Given the description of an element on the screen output the (x, y) to click on. 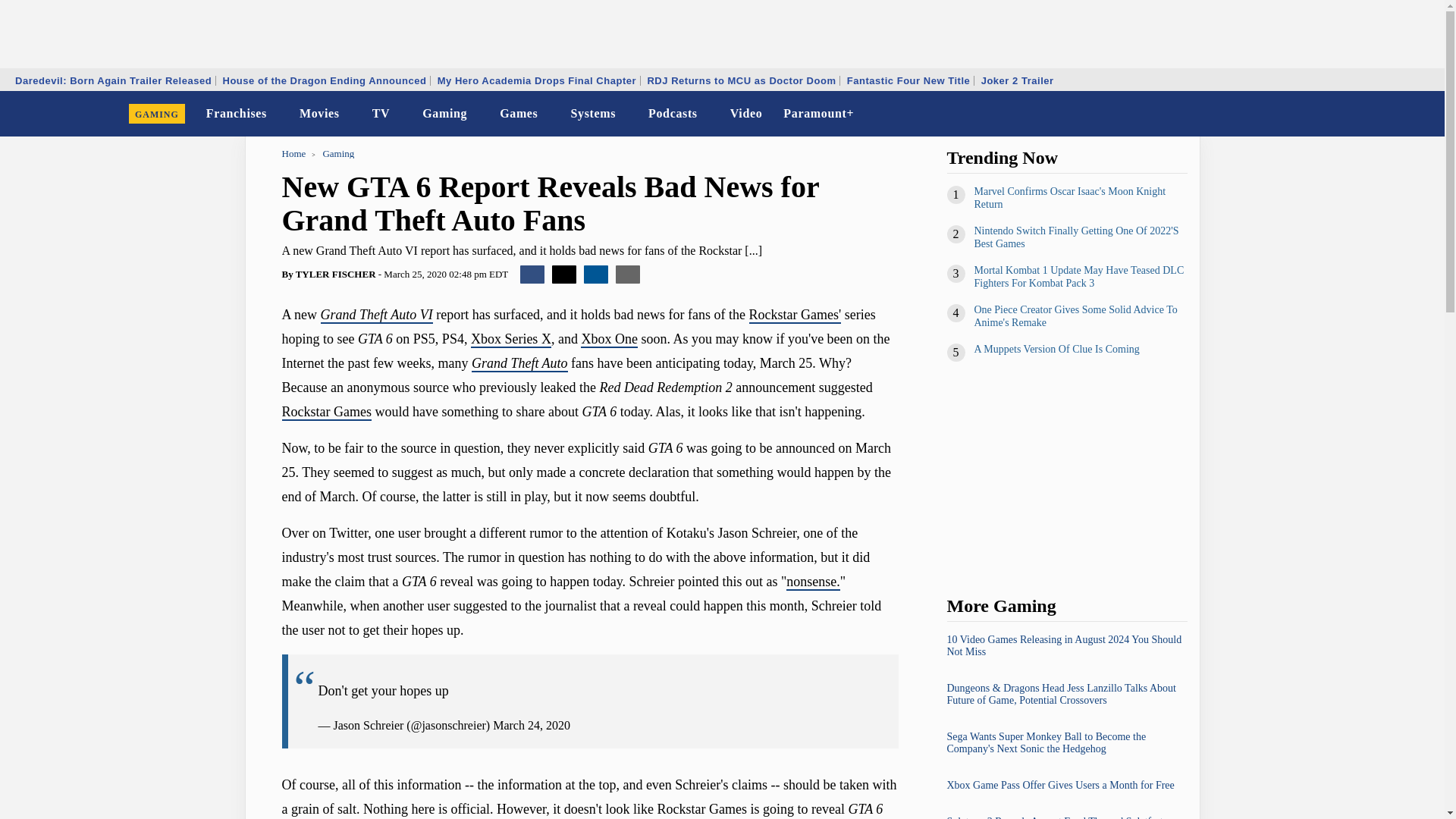
Daredevil: Born Again Trailer Released (113, 80)
Dark Mode (1394, 113)
Movies (320, 113)
Gaming (444, 113)
Fantastic Four New Title (908, 80)
My Hero Academia Drops Final Chapter (536, 80)
RDJ Returns to MCU as Doctor Doom (741, 80)
House of the Dragon Ending Announced (323, 80)
Joker 2 Trailer (1017, 80)
GAMING (157, 113)
